Given the description of an element on the screen output the (x, y) to click on. 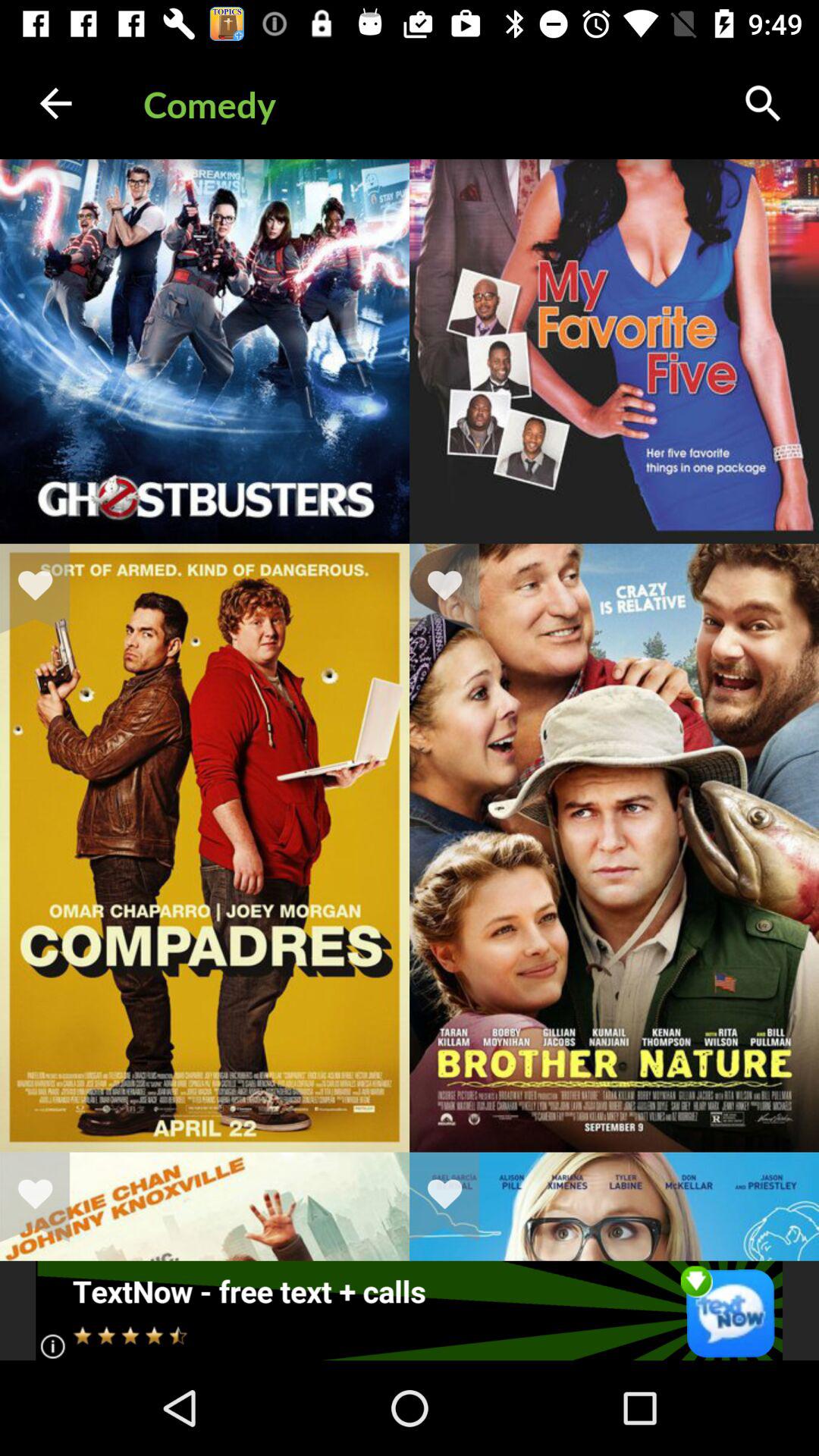
advertisement showing (408, 1310)
